Given the description of an element on the screen output the (x, y) to click on. 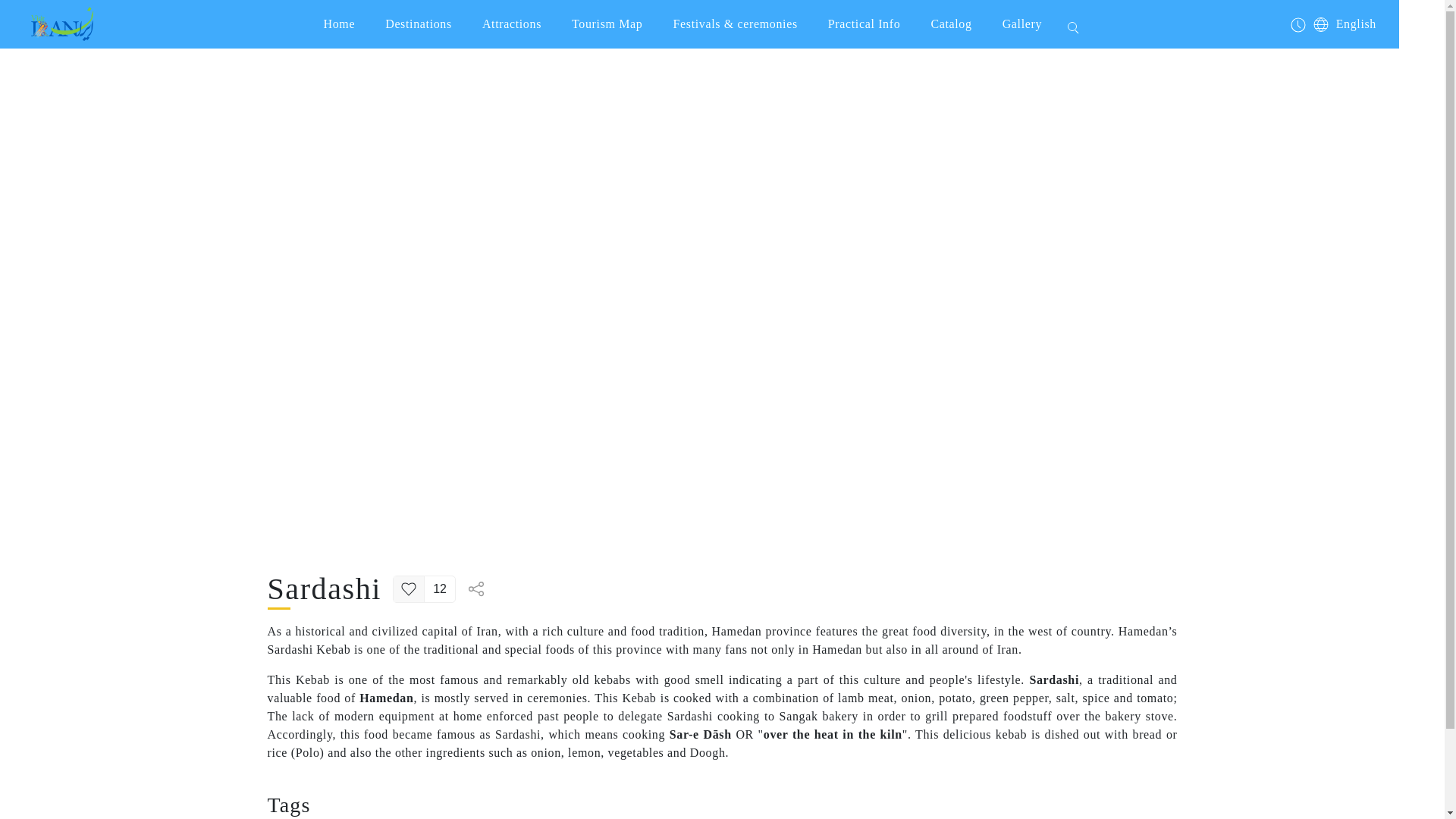
Attractions (511, 24)
Gallery (1022, 24)
Destinations (418, 24)
Practical Info (863, 24)
Tourism Map (607, 24)
Home (339, 24)
Catalog (951, 24)
